Given the description of an element on the screen output the (x, y) to click on. 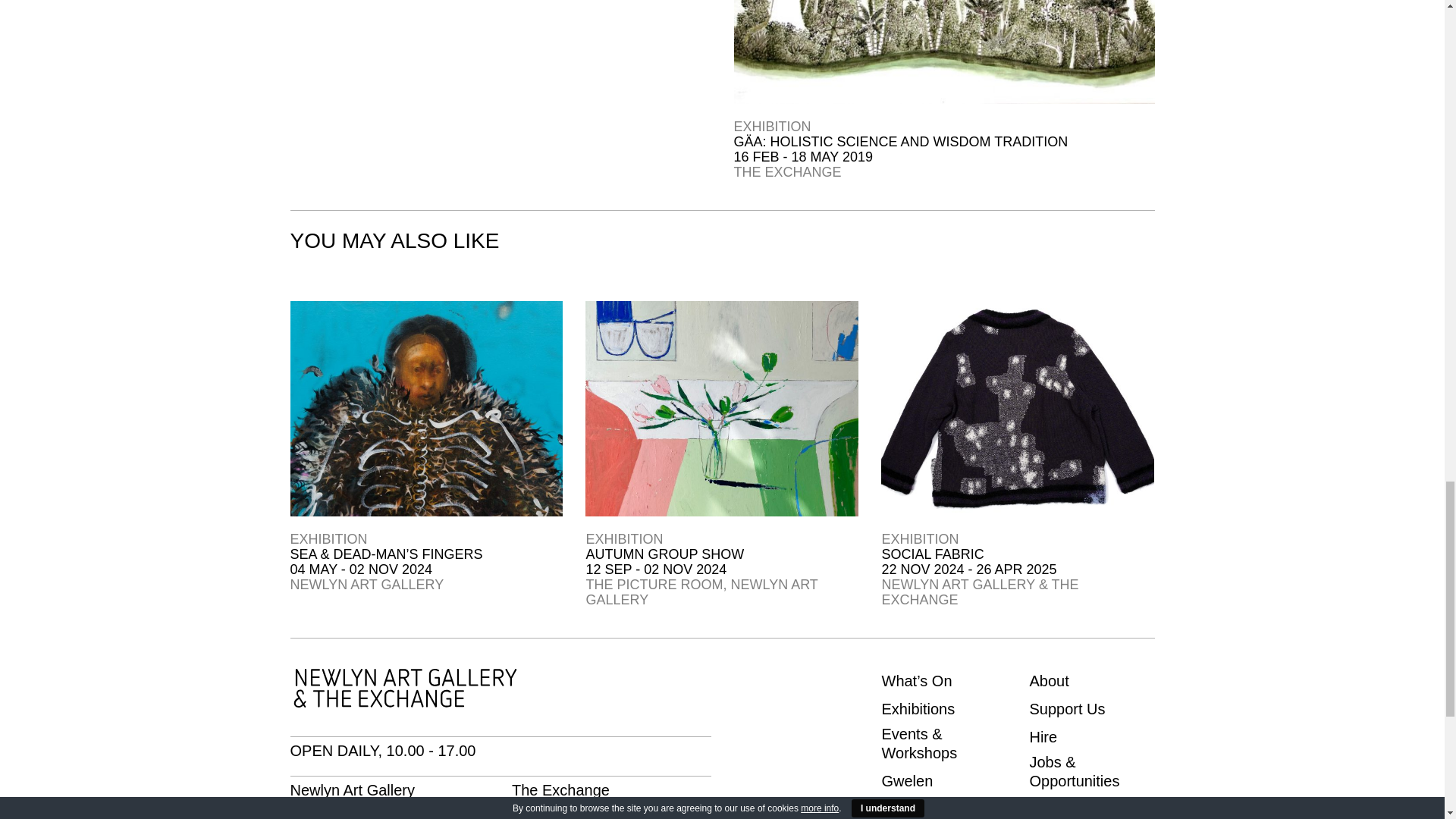
Gwelen (906, 781)
Learning (910, 809)
Exhibitions (917, 709)
